Given the description of an element on the screen output the (x, y) to click on. 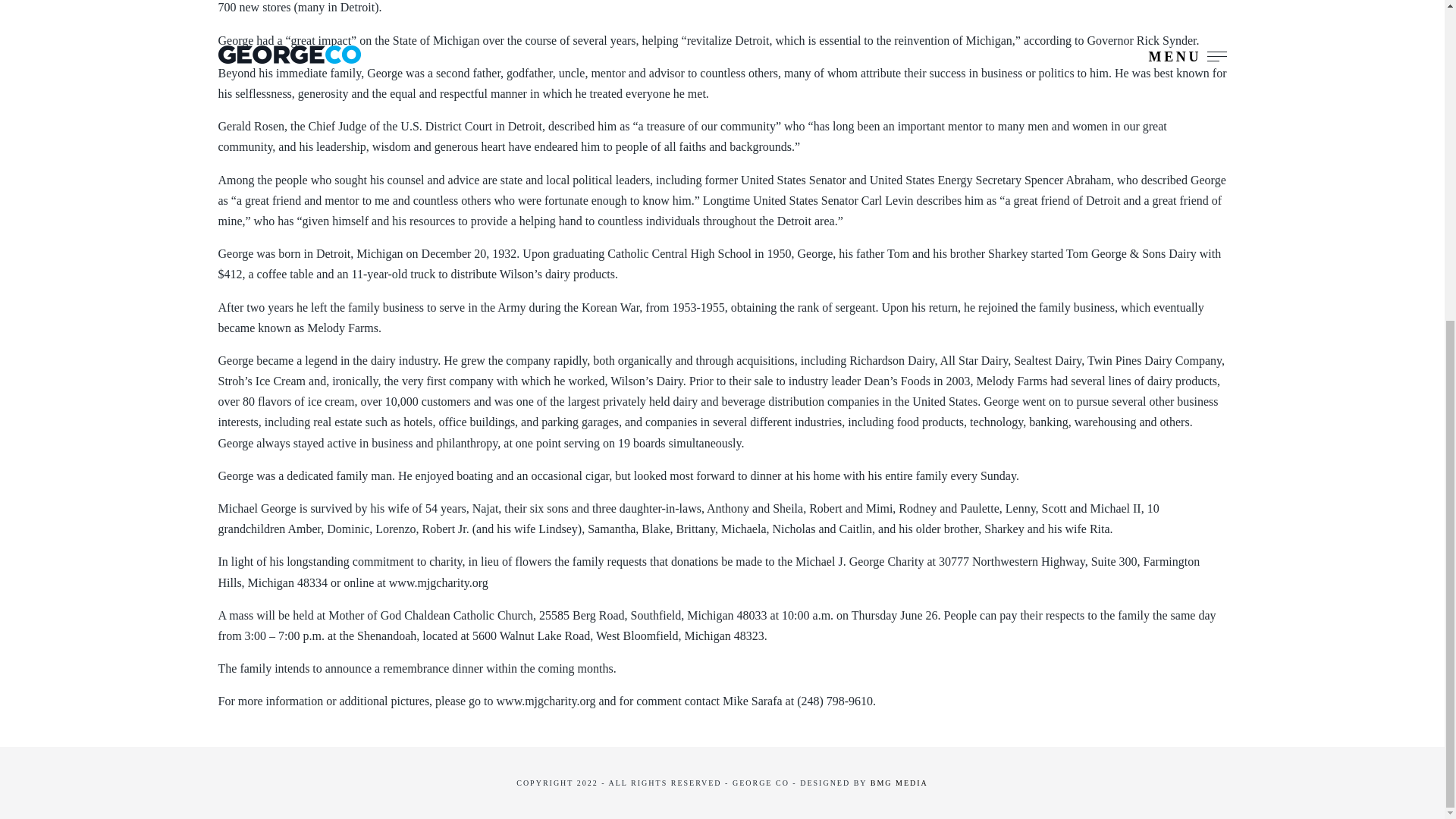
BMG MEDIA (899, 782)
